Given the description of an element on the screen output the (x, y) to click on. 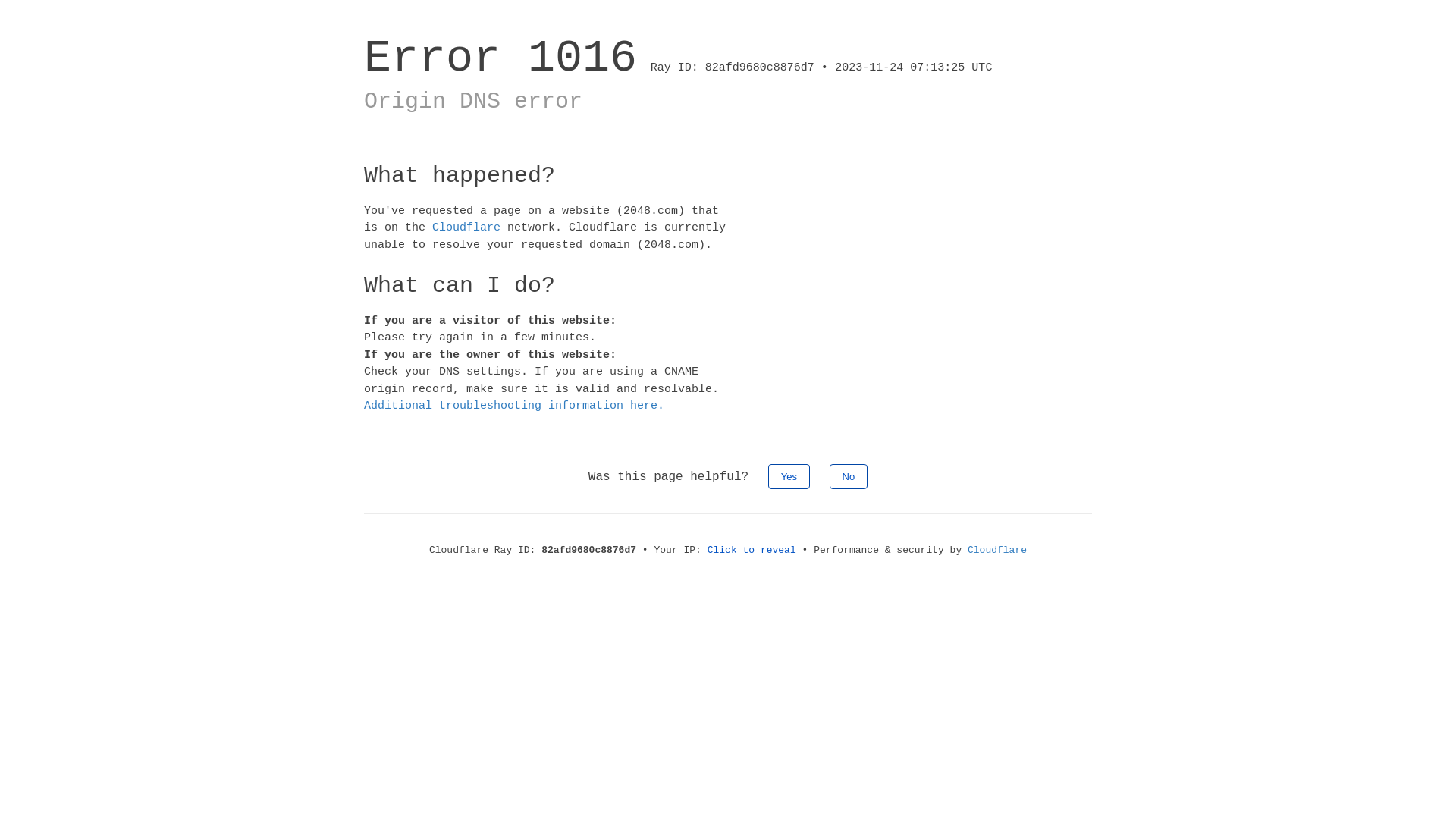
Click to reveal Element type: text (751, 549)
Cloudflare Element type: text (466, 227)
Cloudflare Element type: text (996, 549)
Yes Element type: text (788, 476)
Additional troubleshooting information here. Element type: text (514, 405)
No Element type: text (848, 476)
